Given the description of an element on the screen output the (x, y) to click on. 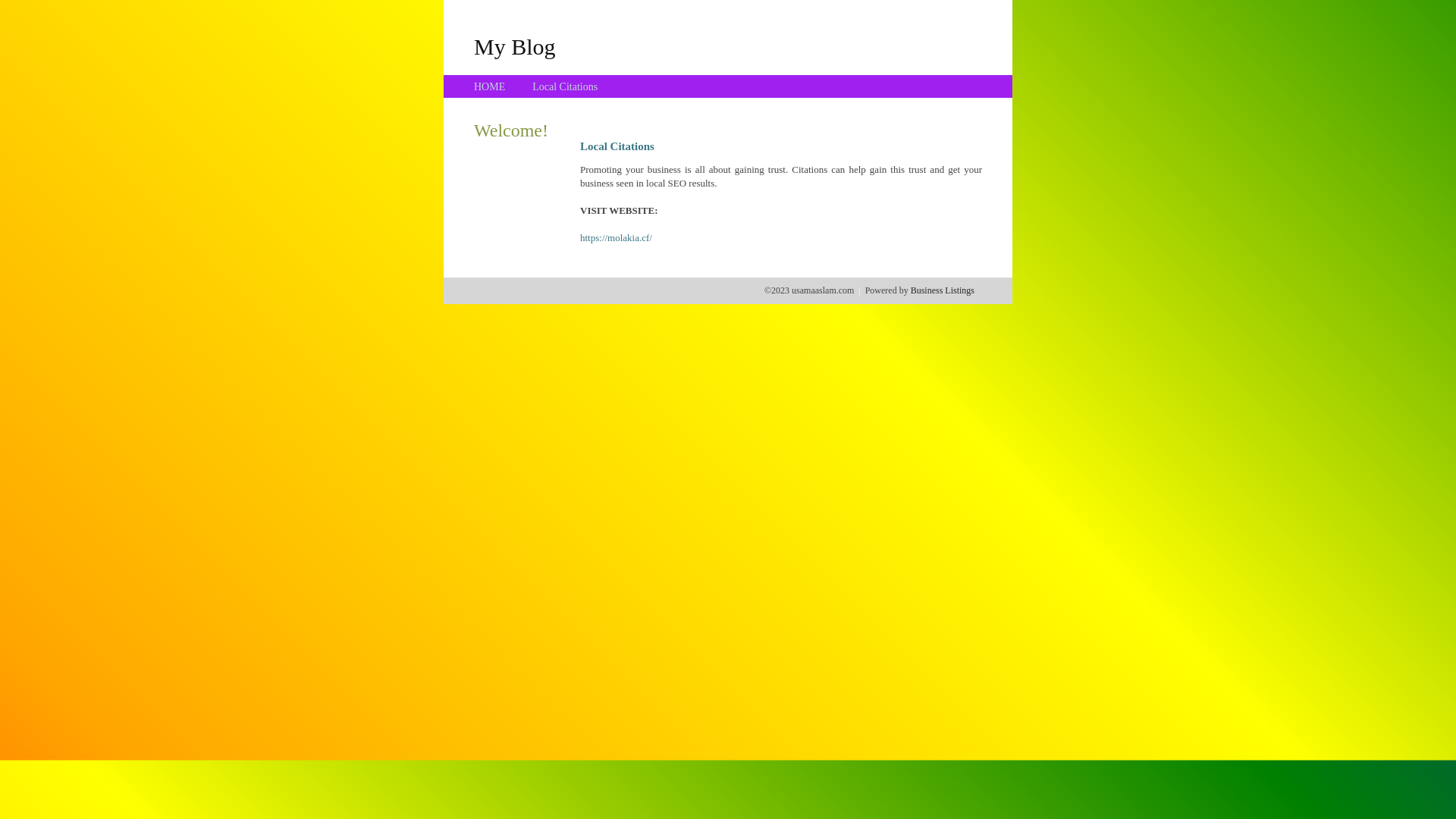
https://molakia.cf/ Element type: text (616, 237)
My Blog Element type: text (514, 46)
Business Listings Element type: text (942, 290)
HOME Element type: text (489, 86)
Local Citations Element type: text (564, 86)
